Given the description of an element on the screen output the (x, y) to click on. 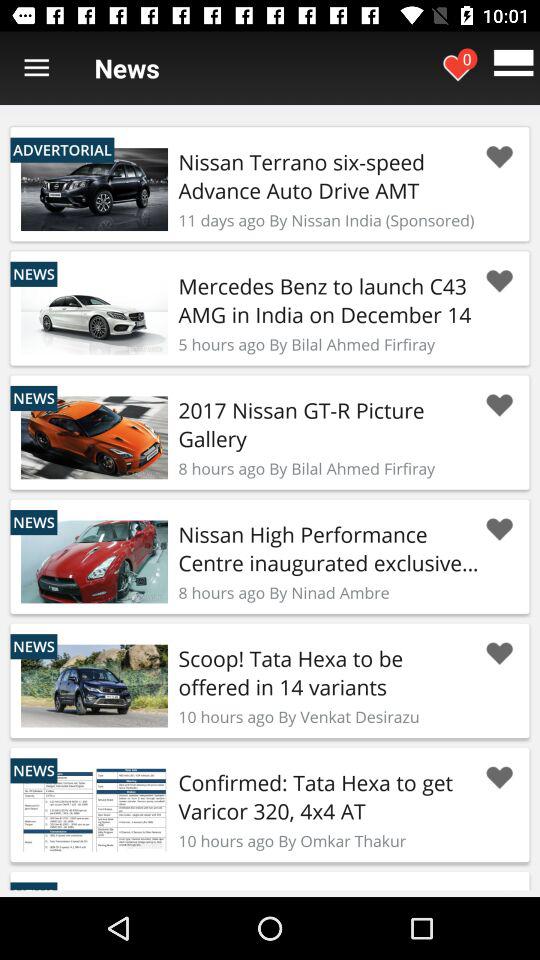
open menu (36, 68)
